Given the description of an element on the screen output the (x, y) to click on. 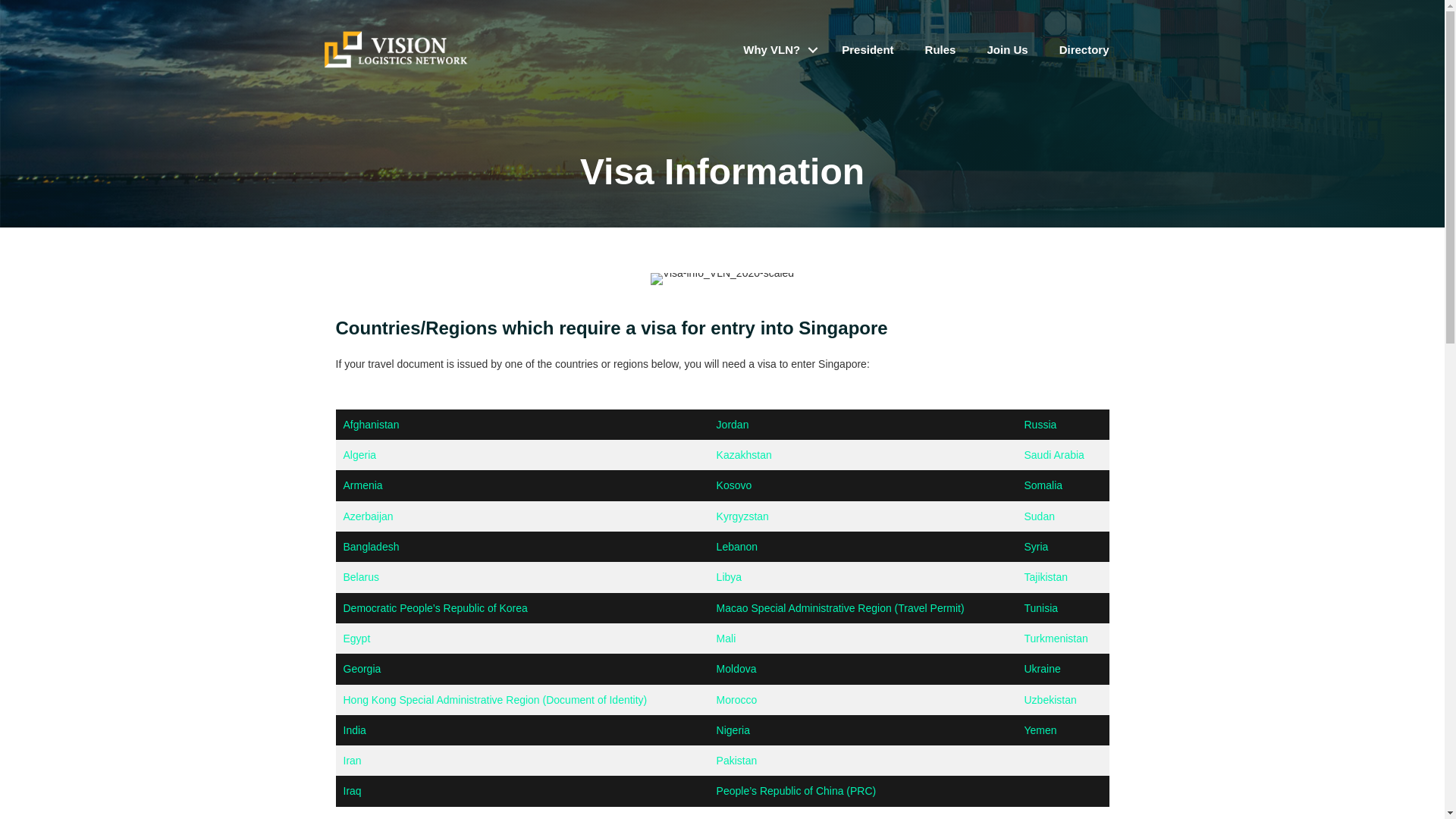
Why VLN? (776, 49)
President (867, 49)
Rules (940, 49)
vision-logistics-network-logo-invert (395, 49)
Directory (1083, 49)
Join Us (1006, 49)
